Given the description of an element on the screen output the (x, y) to click on. 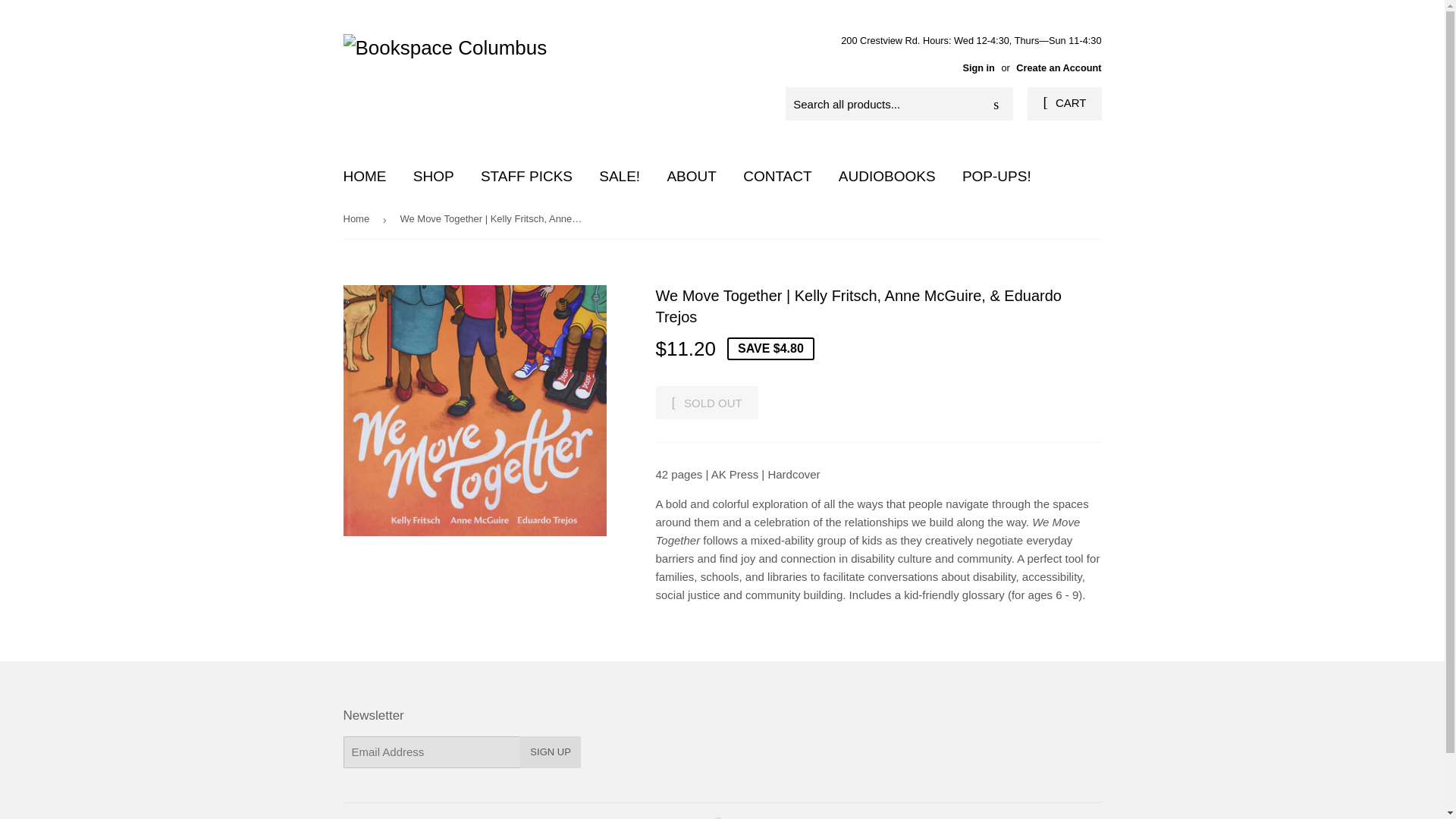
CART (1063, 103)
SIGN UP (549, 752)
SALE! (619, 176)
Create an Account (1058, 67)
AUDIOBOOKS (887, 176)
POP-UPS! (996, 176)
Search (995, 104)
SHOP (433, 176)
Sign in (978, 67)
ABOUT (690, 176)
HOME (364, 176)
CONTACT (777, 176)
SOLD OUT (706, 402)
